Given the description of an element on the screen output the (x, y) to click on. 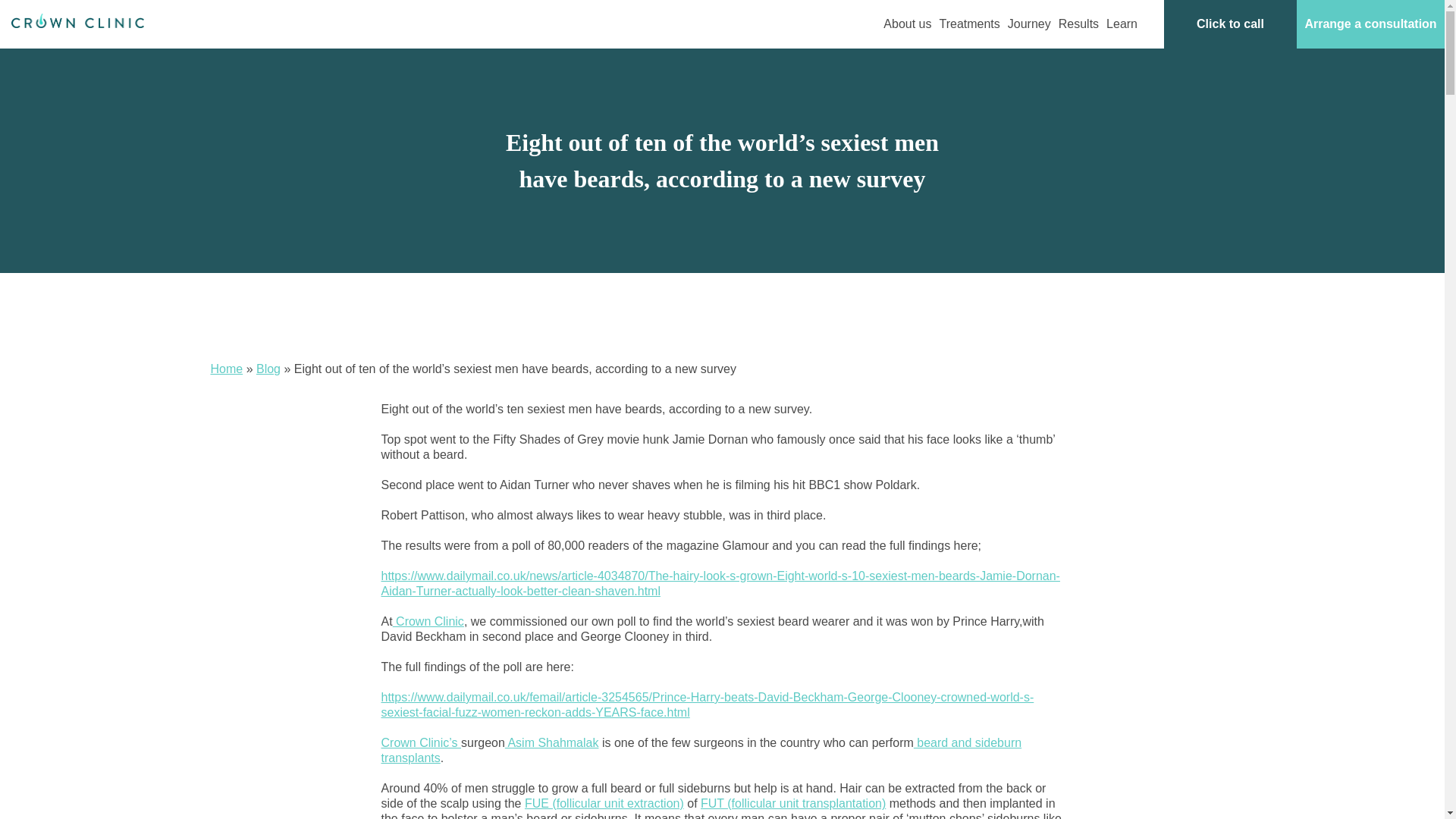
Journey (1029, 24)
About us (907, 24)
Home (227, 368)
Click to call (1230, 24)
Treatments (968, 24)
